Given the description of an element on the screen output the (x, y) to click on. 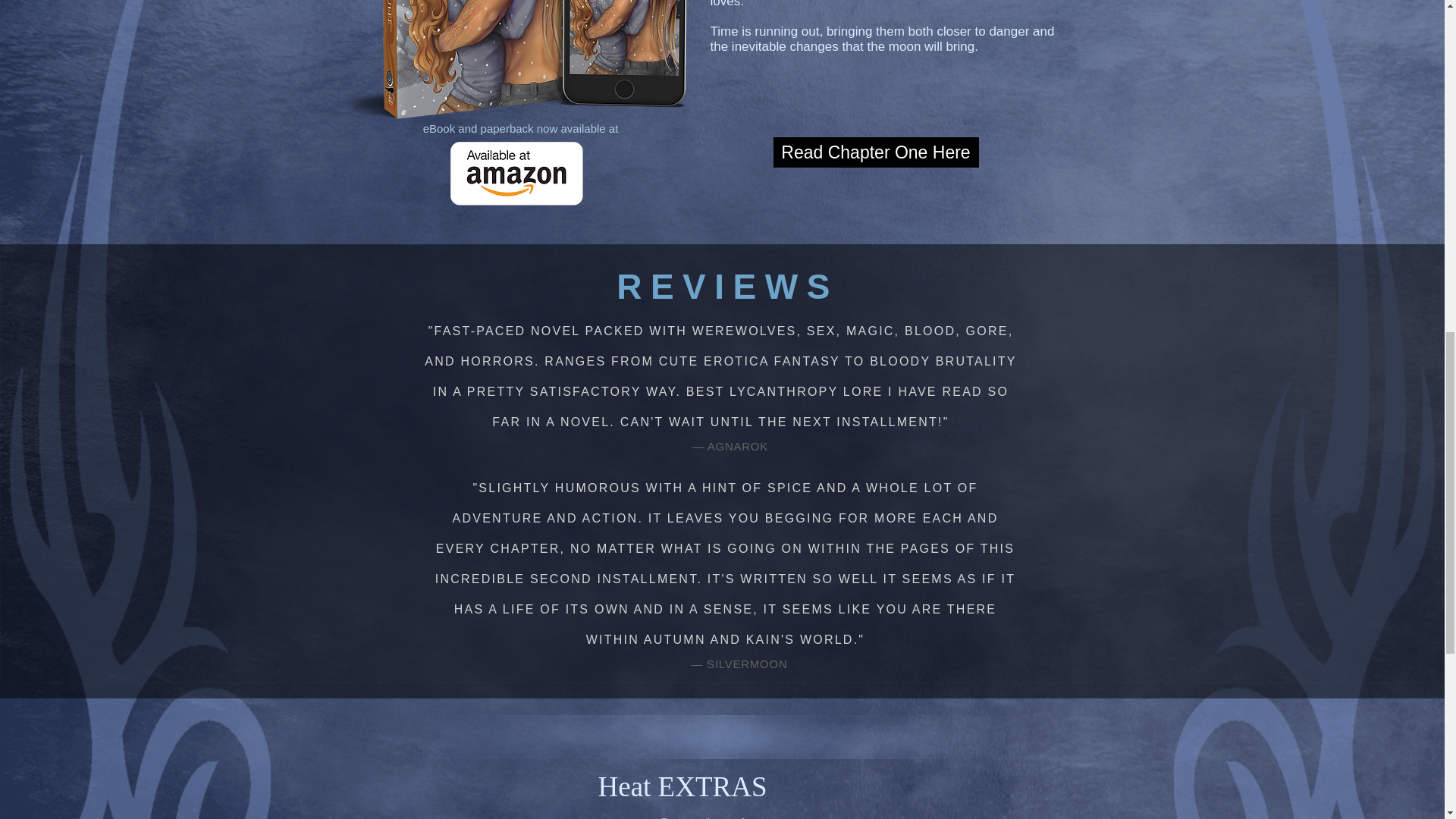
Read Chapter One Here (875, 152)
